Given the description of an element on the screen output the (x, y) to click on. 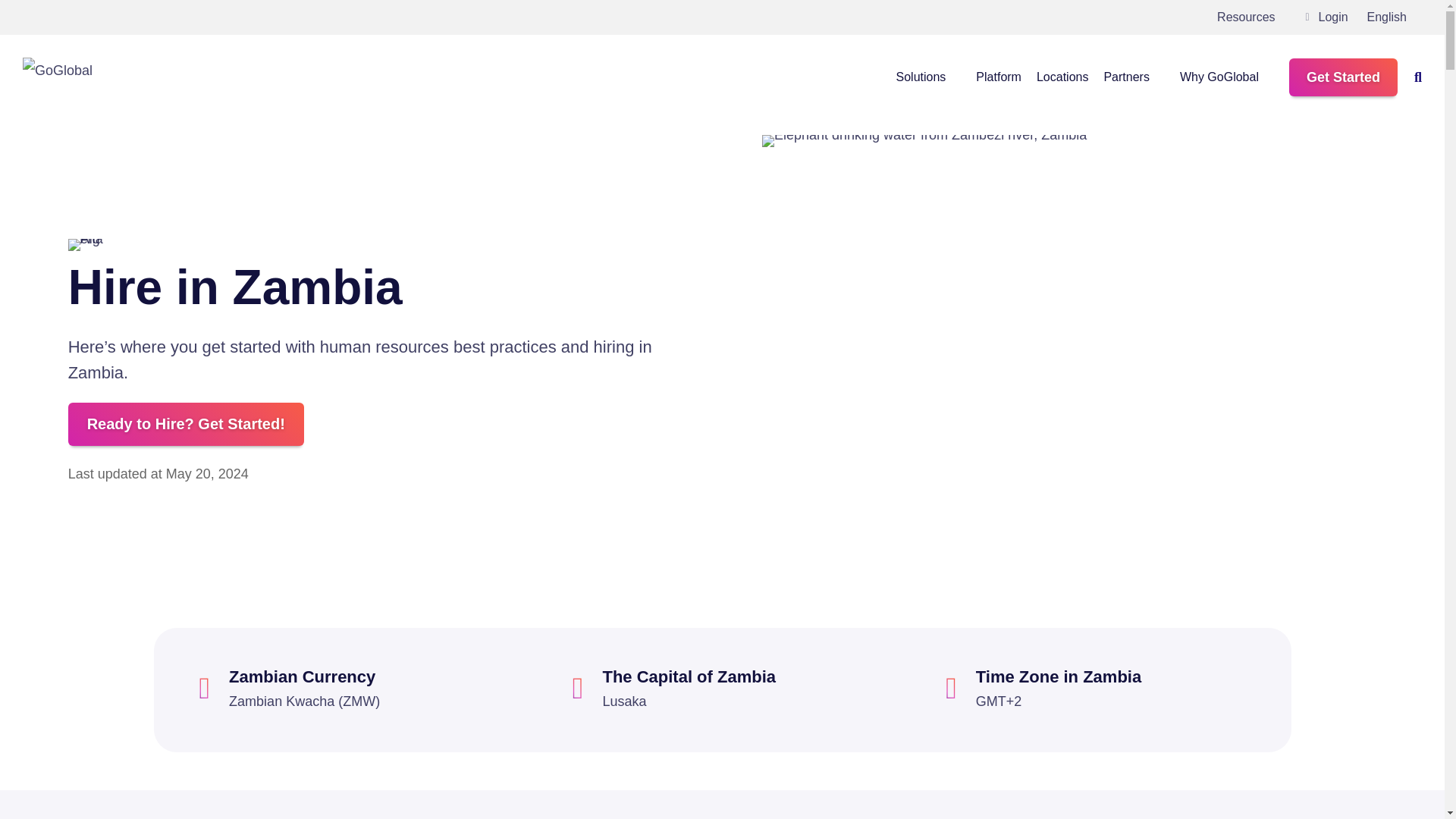
Why GoGlobal (1226, 77)
Platform (998, 76)
Locations (1062, 76)
English (1392, 17)
Login (1327, 17)
Resources (1253, 17)
English (1392, 17)
